Given the description of an element on the screen output the (x, y) to click on. 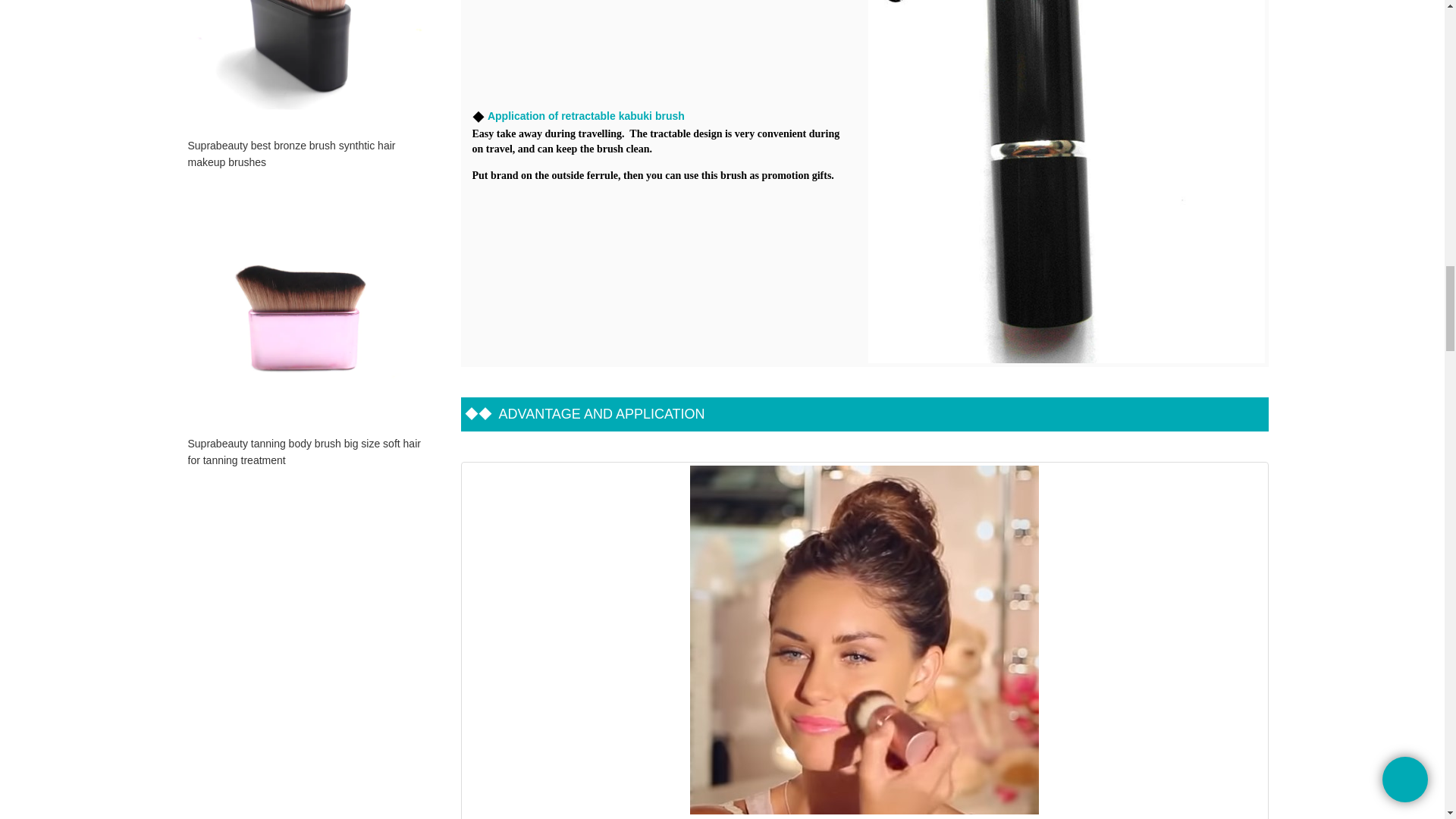
Suprabeauty best bronze brush synthtic hair makeup brushes (306, 152)
